Given the description of an element on the screen output the (x, y) to click on. 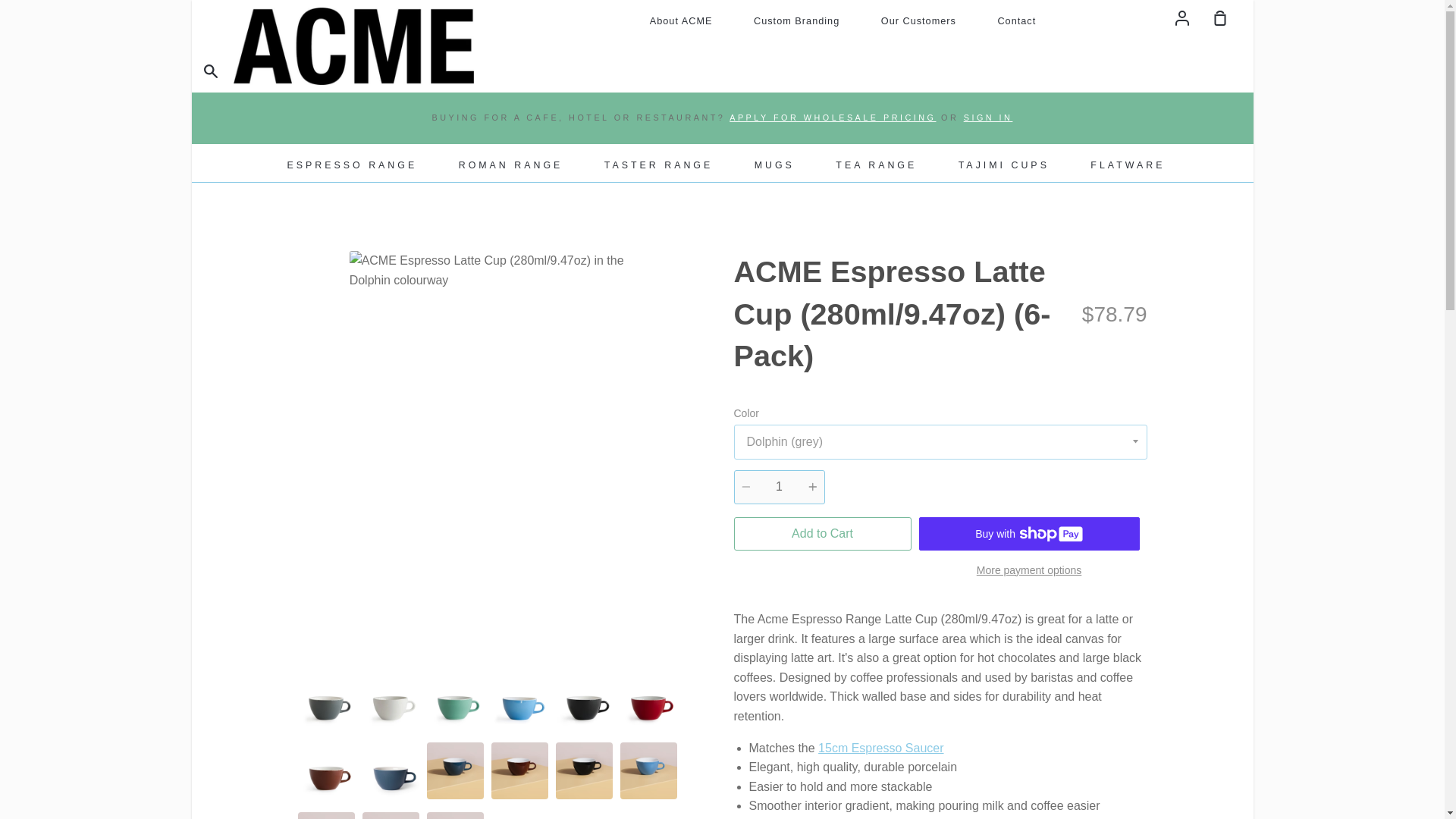
MUGS (774, 164)
Custom Branding (796, 20)
Search our store (212, 72)
About ACME (681, 20)
APPLY FOR WHOLESALE PRICING (832, 117)
Contact (1015, 20)
ROMAN RANGE (510, 164)
ESPRESSO RANGE (352, 164)
TAJIMI CUPS (1003, 164)
TASTER RANGE (657, 164)
